Given the description of an element on the screen output the (x, y) to click on. 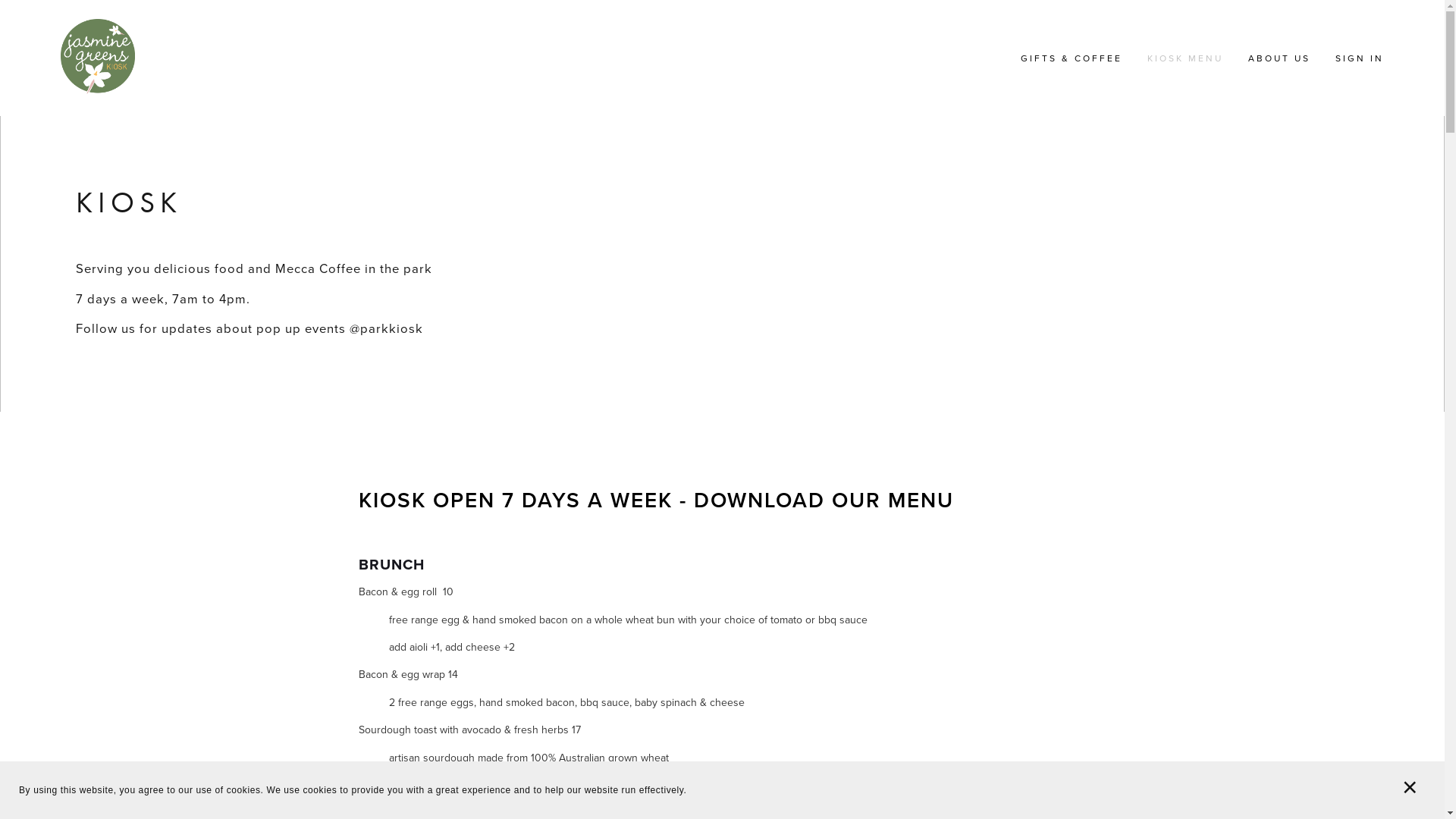
KIOSK OPEN 7 DAYS A WEEK - DOWNLOAD OUR MENU Element type: text (655, 499)
ABOUT US Element type: text (1279, 58)
SIGN IN Element type: text (1359, 58)
GIFTS & COFFEE Element type: text (1071, 58)
KIOSK MENU Element type: text (1185, 58)
